Given the description of an element on the screen output the (x, y) to click on. 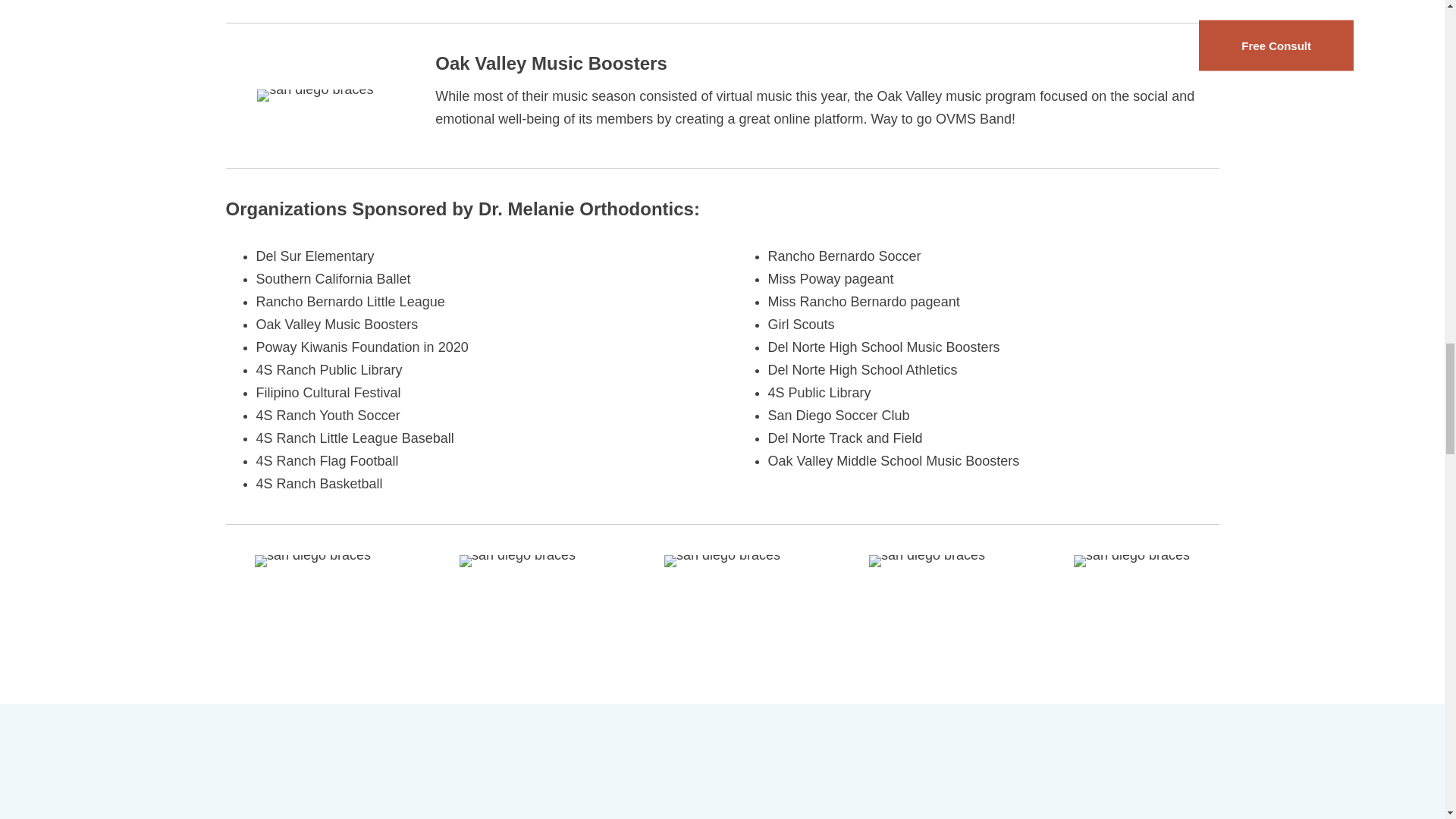
san-diego-soccer-club (312, 561)
forcelogo (721, 561)
RBReclogo (1131, 561)
logo-oak-valley-music-boosters (314, 95)
delNorte-school-logo (927, 561)
4s-ranch-little-league-baseball (517, 561)
